Given the description of an element on the screen output the (x, y) to click on. 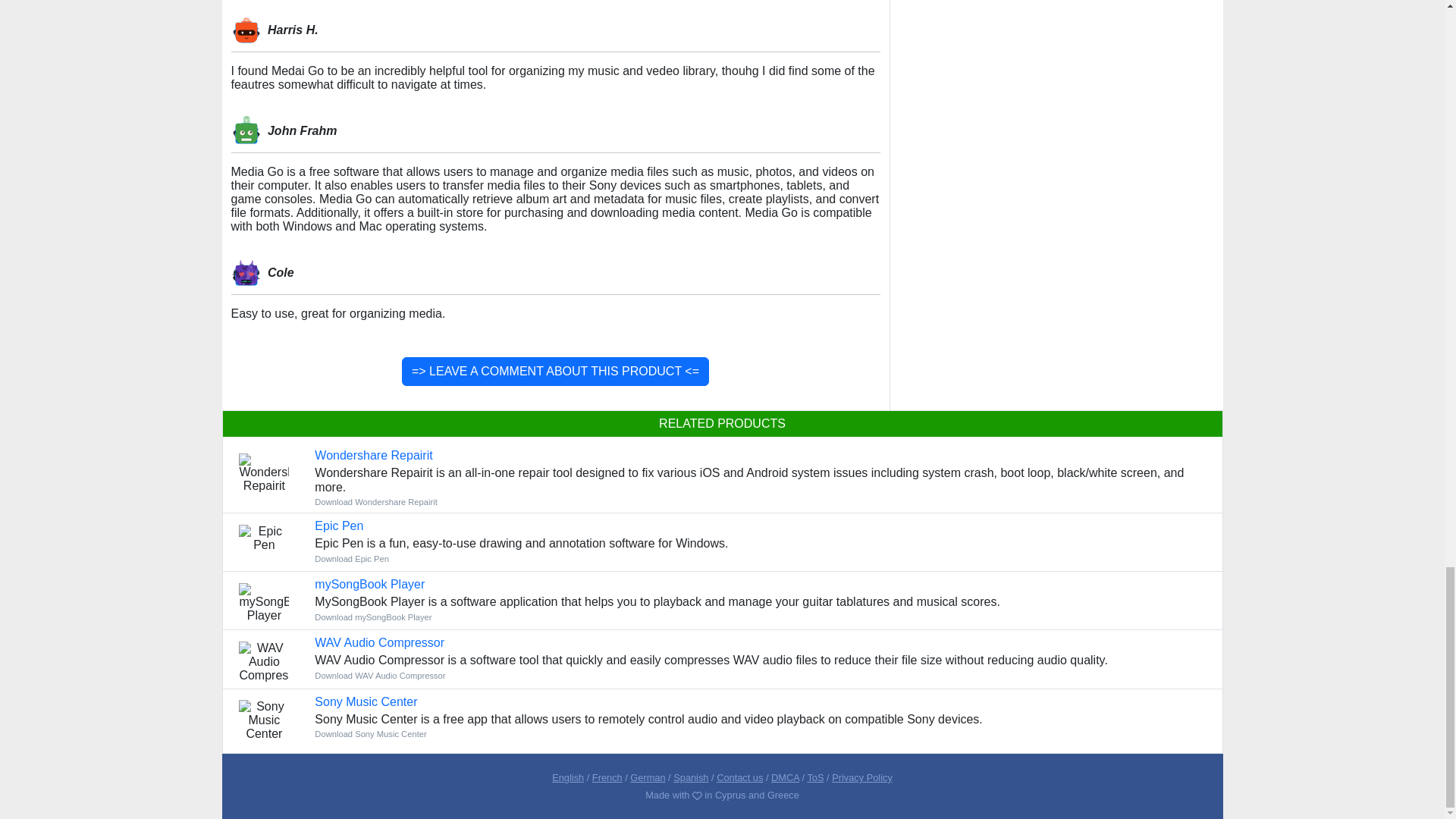
Download Wondershare Repairit (375, 501)
English (567, 777)
Sony Music Center (365, 701)
Wondershare Repairit (373, 454)
Download Sony Music Center (365, 701)
mySongBook Player (369, 584)
Download mySongBook Player (372, 616)
Download Epic Pen (338, 525)
Spanish (689, 777)
Contact us (739, 777)
